Given the description of an element on the screen output the (x, y) to click on. 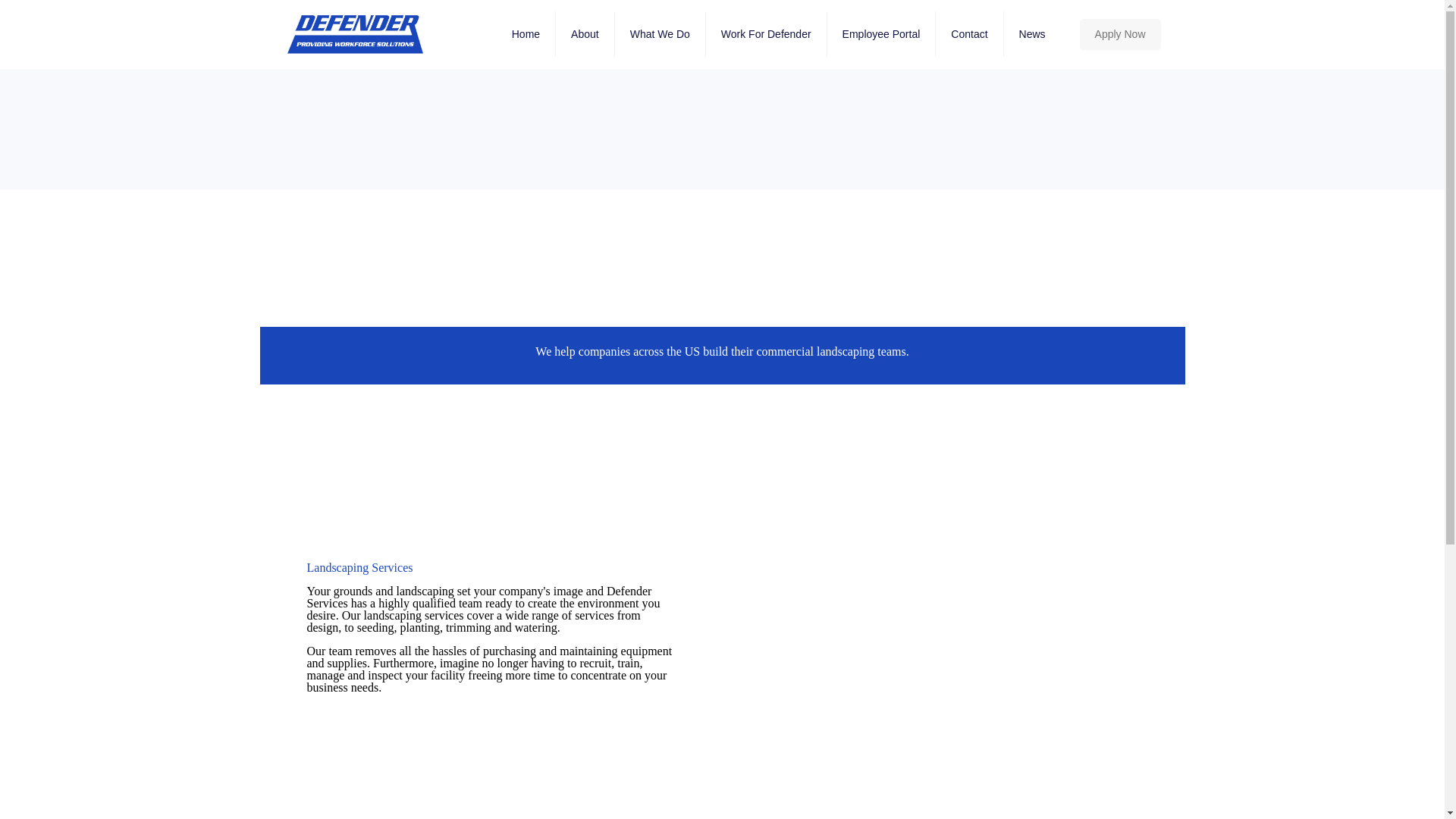
Defender Services (354, 33)
What We Do (660, 33)
Employee Portal (881, 33)
Work For Defender (766, 33)
Apply Now (1120, 33)
Contact (969, 33)
